Given the description of an element on the screen output the (x, y) to click on. 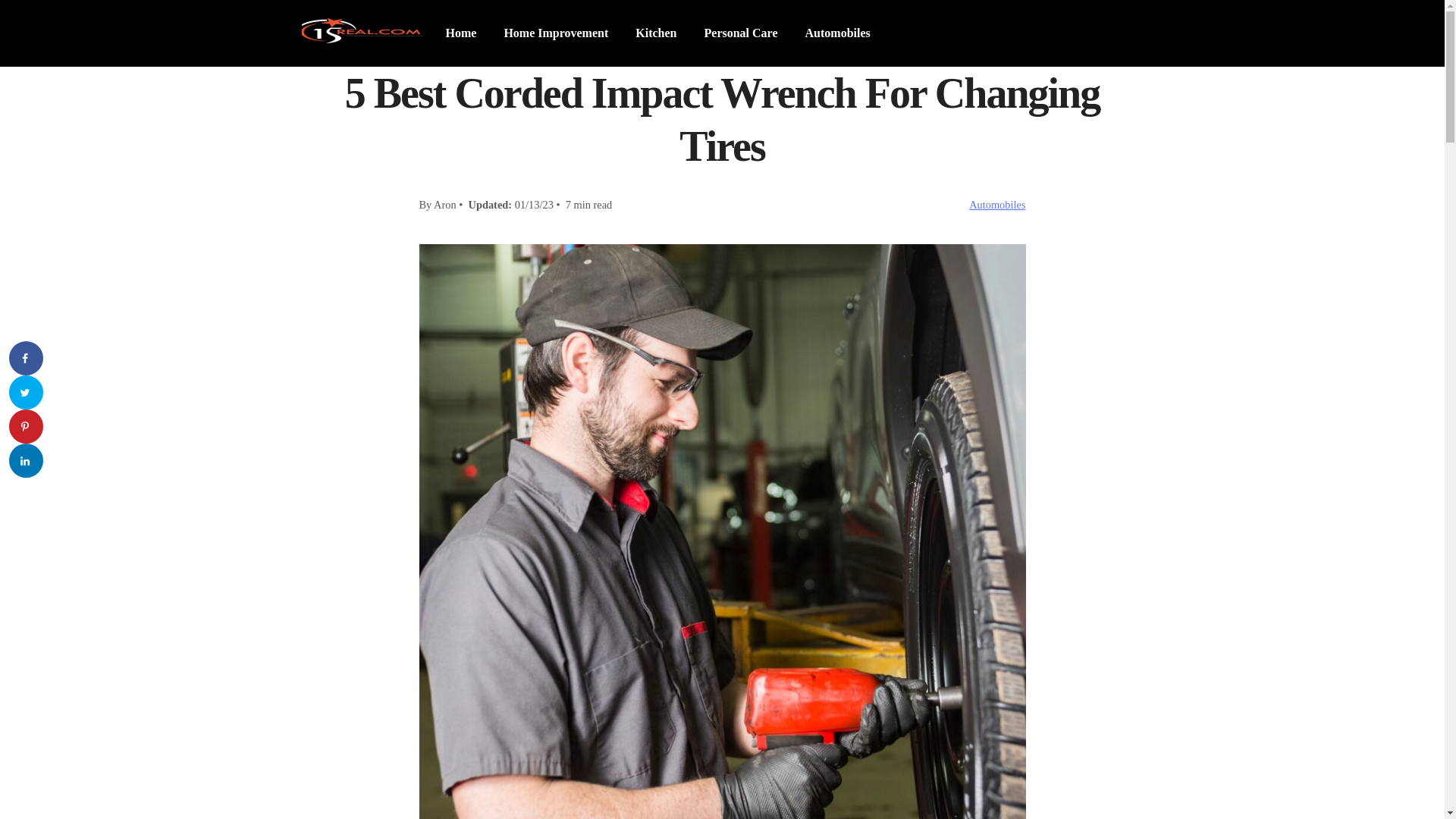
Home Element type: text (460, 33)
Share on Facebook Element type: hover (26, 358)
Home Improvement Element type: text (555, 33)
Kitchen Element type: text (655, 33)
Share on Twitter Element type: hover (26, 392)
Automobiles Element type: text (837, 33)
Save to Pinterest Element type: hover (26, 426)
Automobiles Element type: text (997, 204)
Personal Care Element type: text (740, 33)
Share on LinkedIn Element type: hover (26, 460)
